Given the description of an element on the screen output the (x, y) to click on. 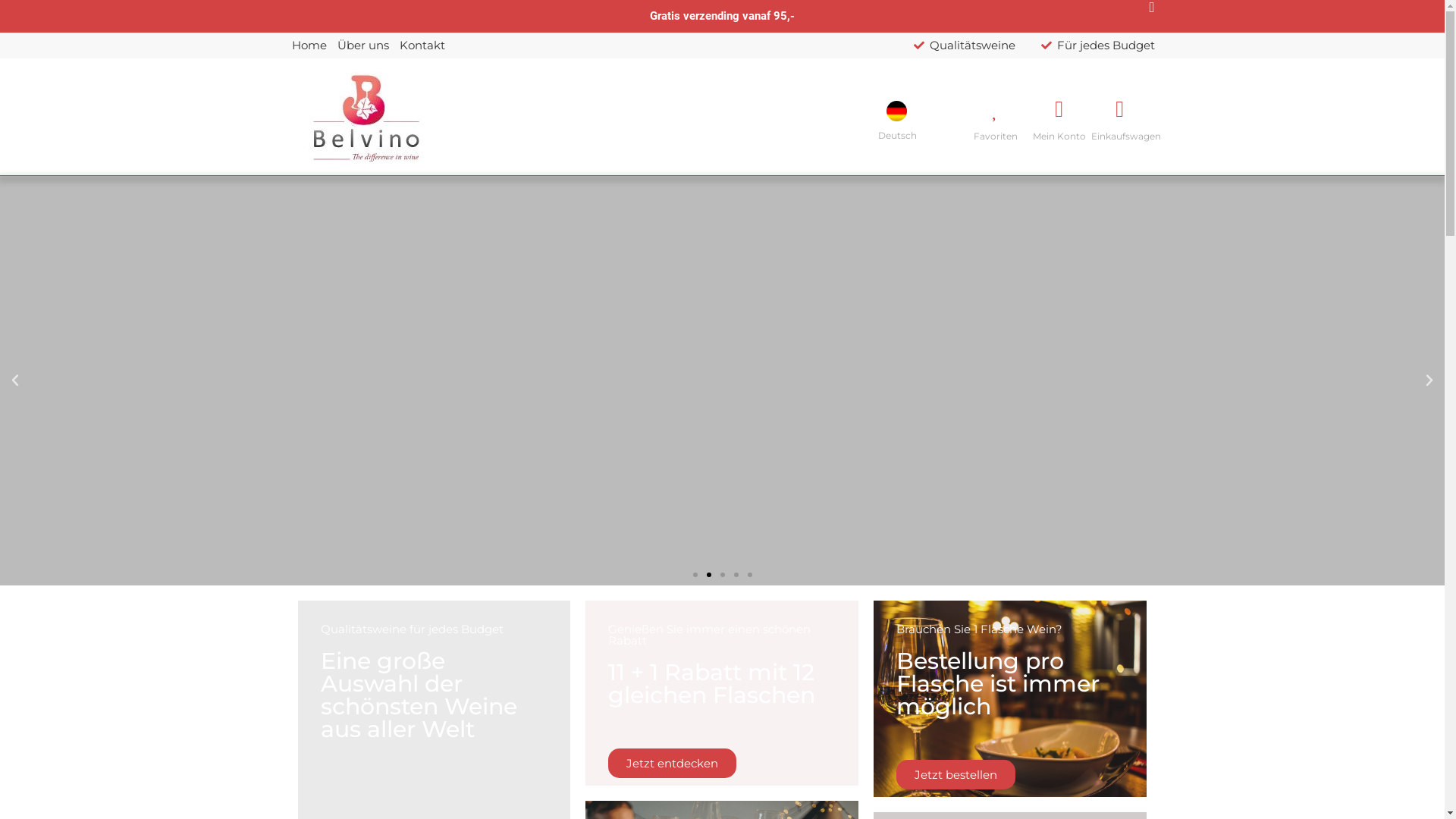
Kontakt Element type: text (421, 45)
Home Element type: text (308, 45)
Deutsch Element type: hover (896, 110)
Jetzt bestellen Element type: text (955, 774)
Deutsch Element type: text (900, 116)
Jetzt entdecken Element type: text (672, 763)
